Given the description of an element on the screen output the (x, y) to click on. 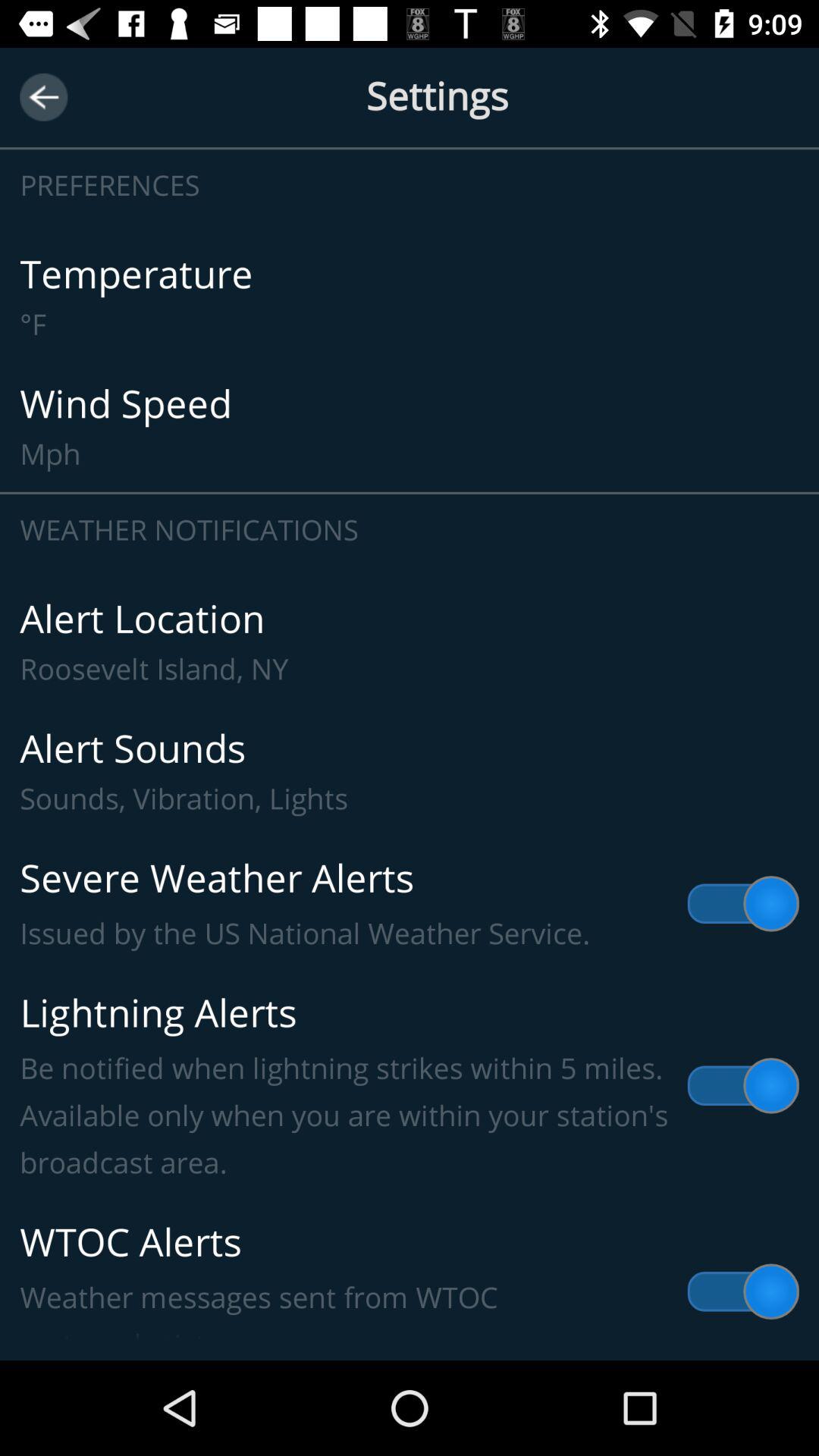
click item above alert sounds sounds icon (409, 641)
